Given the description of an element on the screen output the (x, y) to click on. 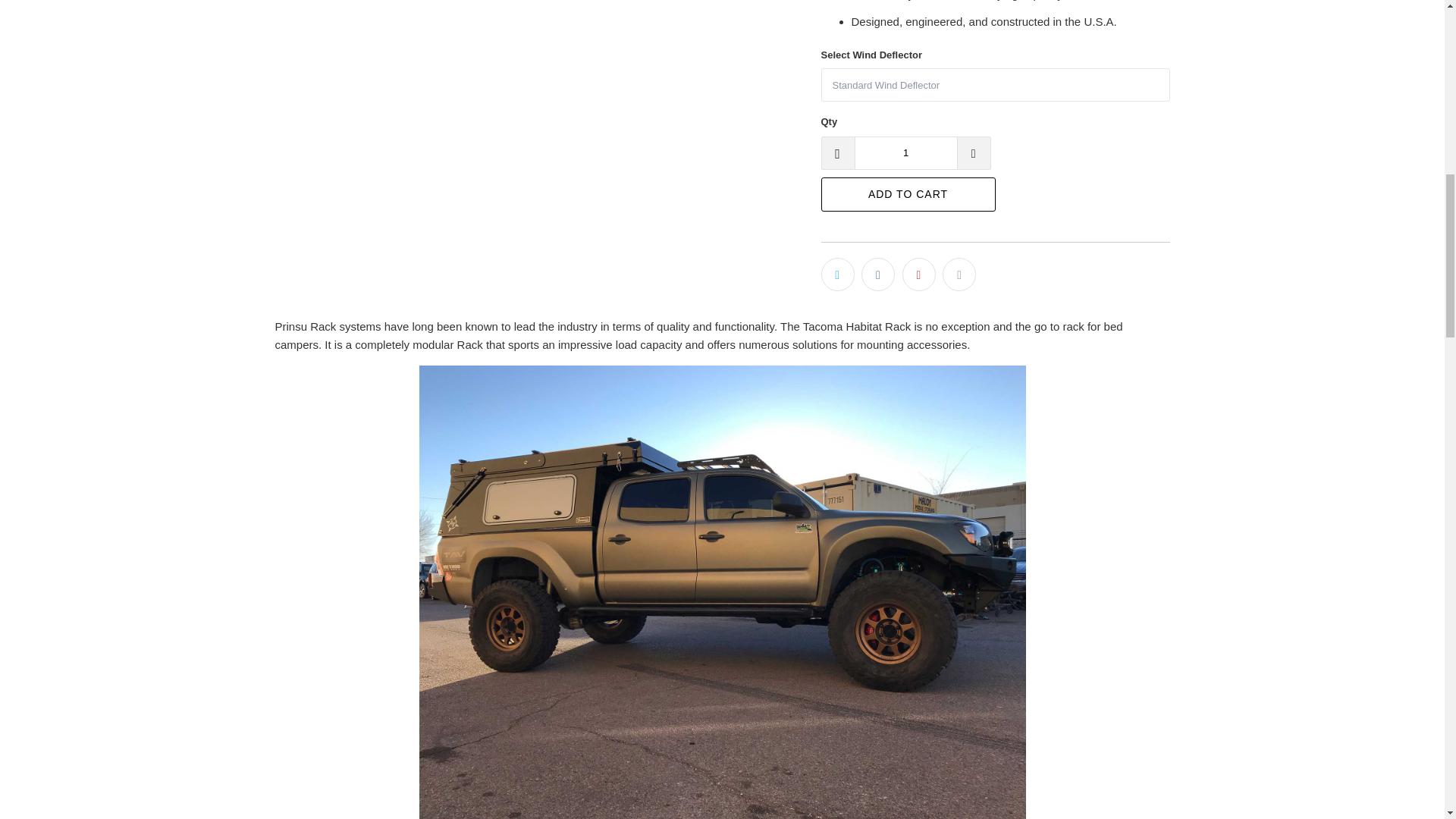
Email this to a friend (958, 274)
Share this on Twitter (837, 274)
Share this on Facebook (878, 274)
1 (904, 152)
Share this on Pinterest (919, 274)
